Given the description of an element on the screen output the (x, y) to click on. 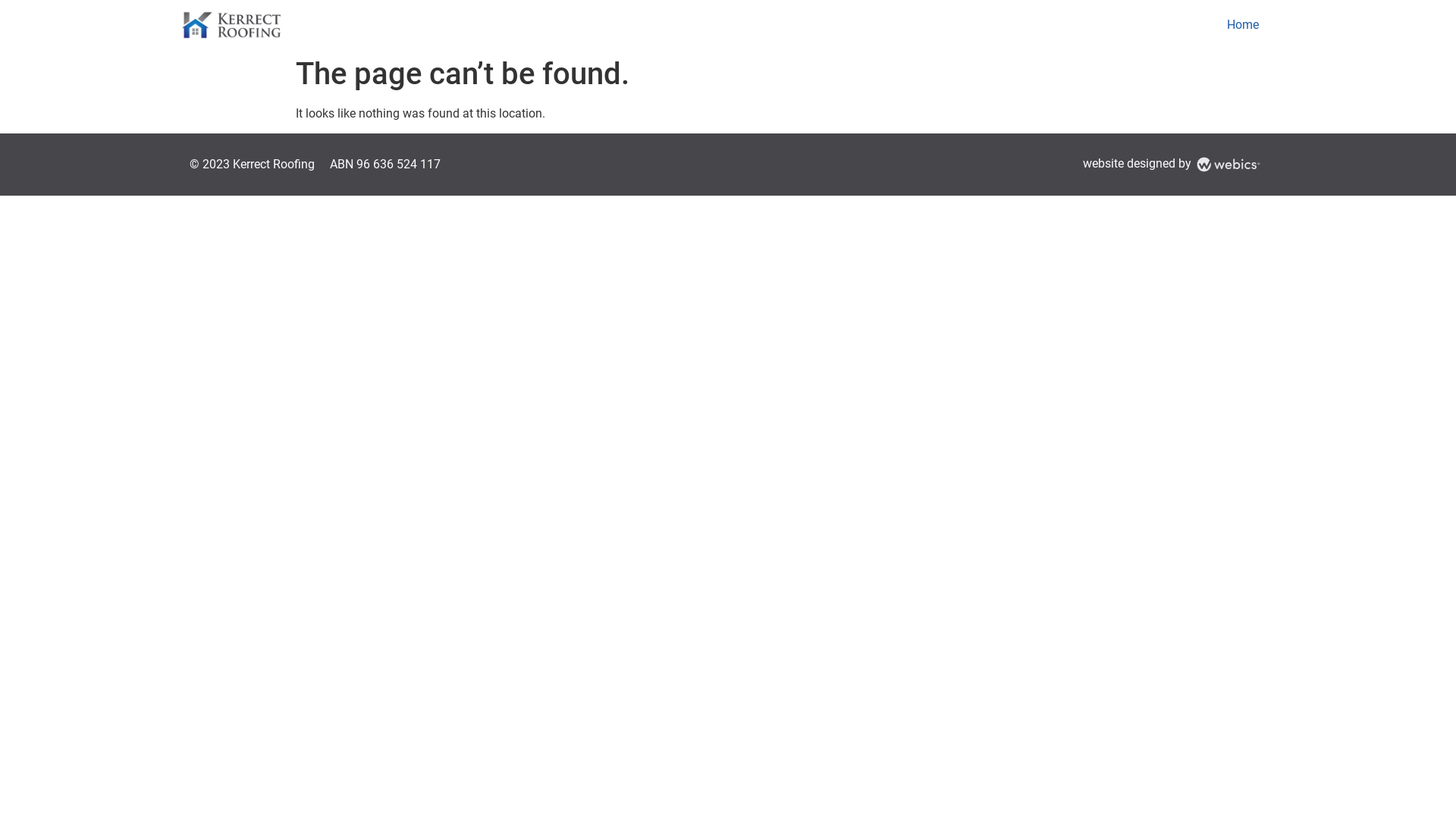
Home Element type: text (1242, 24)
